Given the description of an element on the screen output the (x, y) to click on. 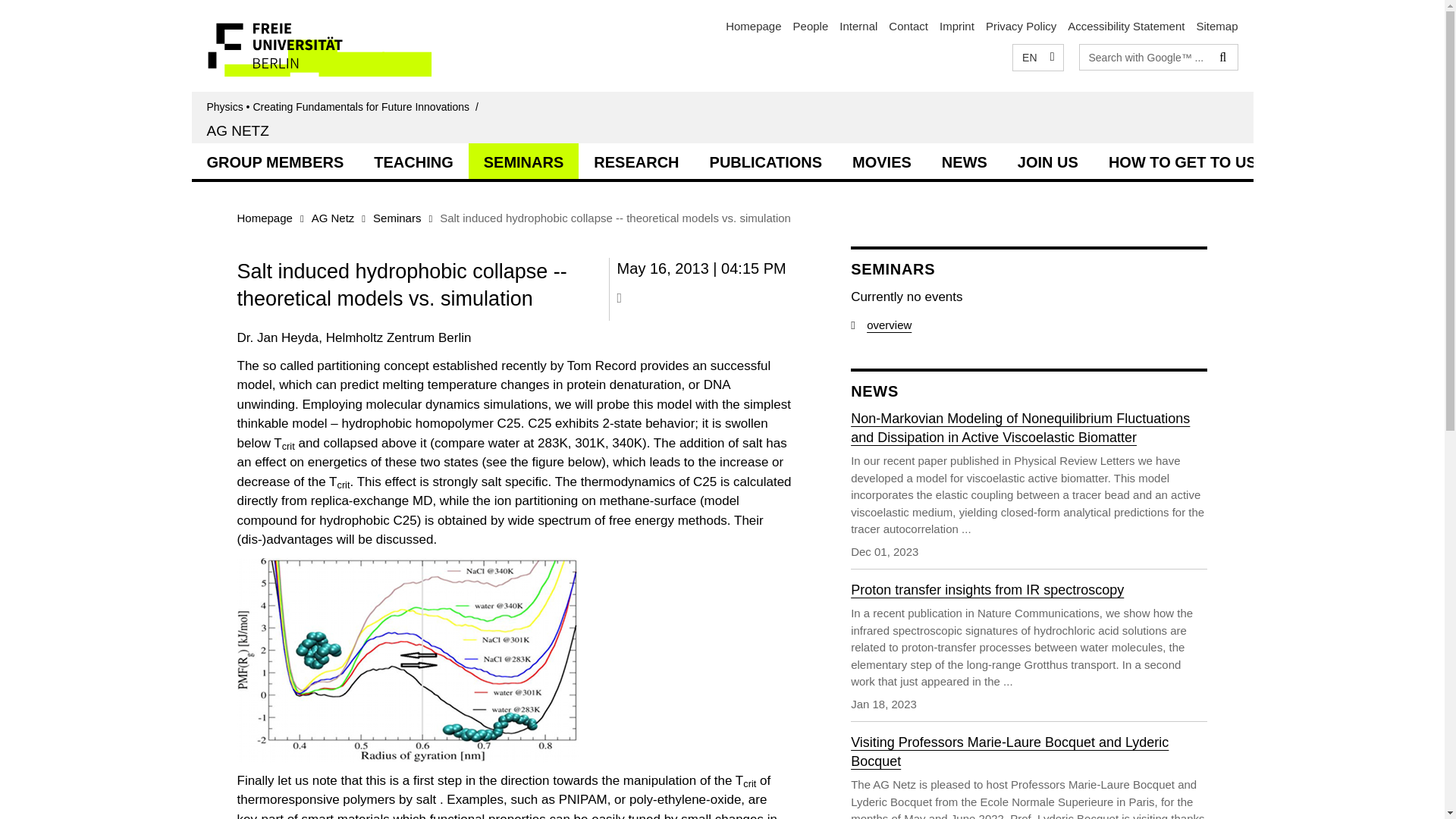
Homepage (752, 25)
To the Homepage of: Physics (752, 25)
To the Homepage of:  (344, 106)
Accessibility Statement (1126, 25)
Please enter search term here (1144, 56)
Sitemap (1216, 25)
Imprint (956, 25)
Fachbereichsinterner Bereich (858, 25)
Privacy Policy (1021, 25)
AG NETZ (236, 130)
Imprint (956, 25)
Contact (908, 25)
Internal (858, 25)
People (810, 25)
To the Homepage of:  AG Netz (236, 130)
